Given the description of an element on the screen output the (x, y) to click on. 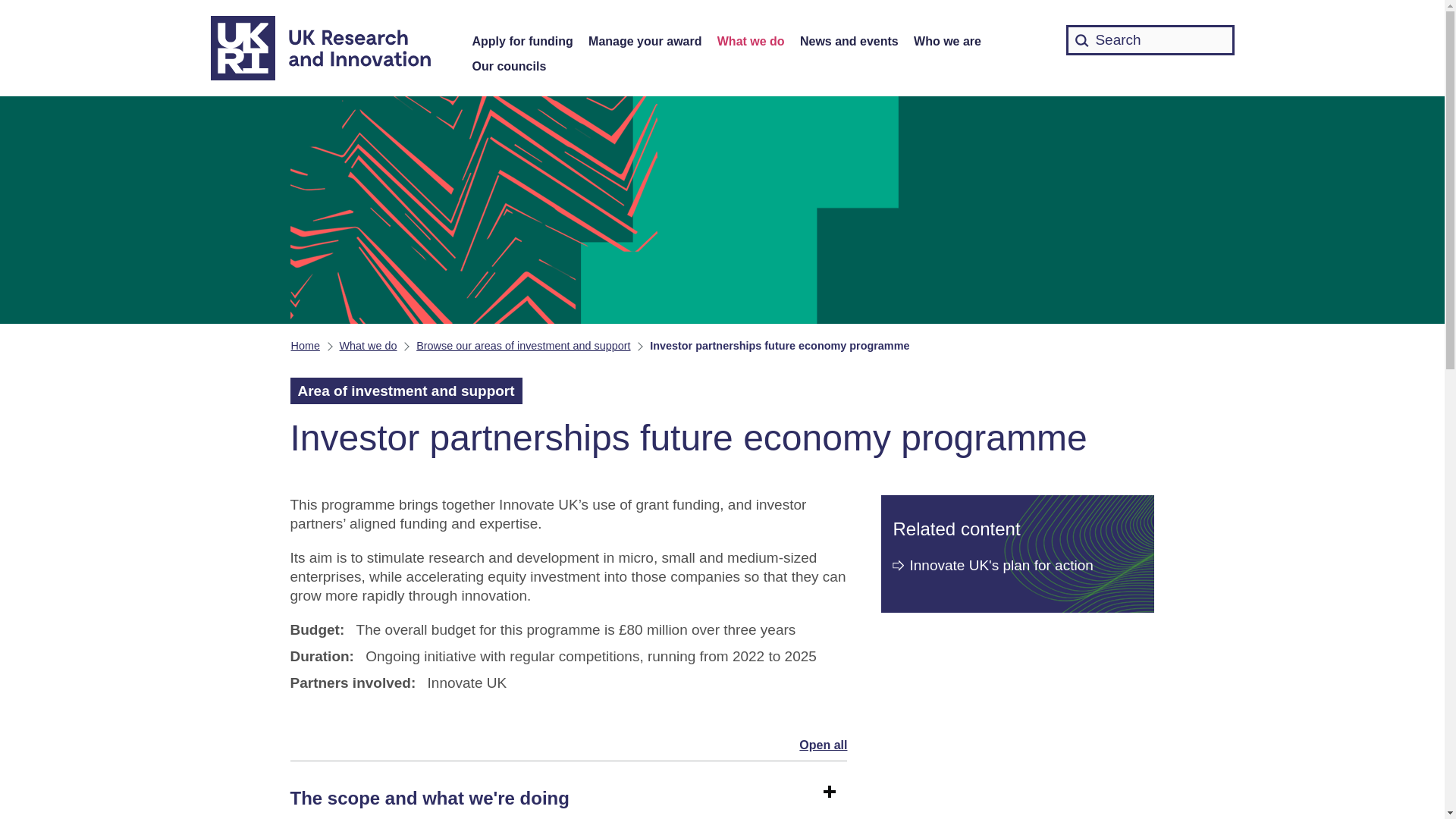
Manage your award (644, 41)
Our councils (508, 66)
Who we are (947, 41)
What we do (750, 41)
News and events (848, 41)
Skip to main content (11, 7)
Apply for funding (521, 41)
